Given the description of an element on the screen output the (x, y) to click on. 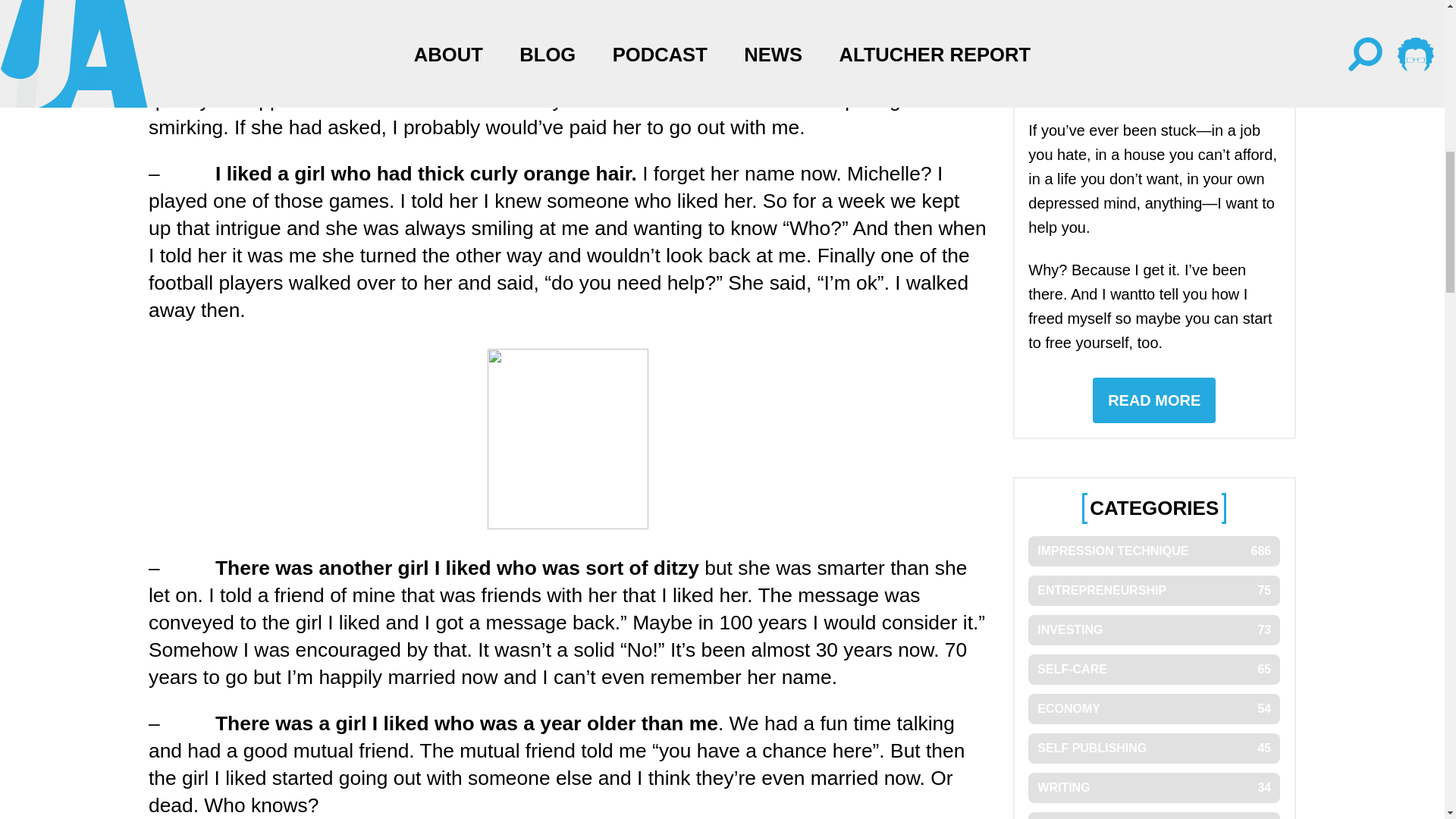
Investing (1153, 708)
Writing (1153, 748)
Politics (1153, 630)
READ MORE (1153, 788)
Economy (1153, 590)
Self-care (1153, 815)
